Given the description of an element on the screen output the (x, y) to click on. 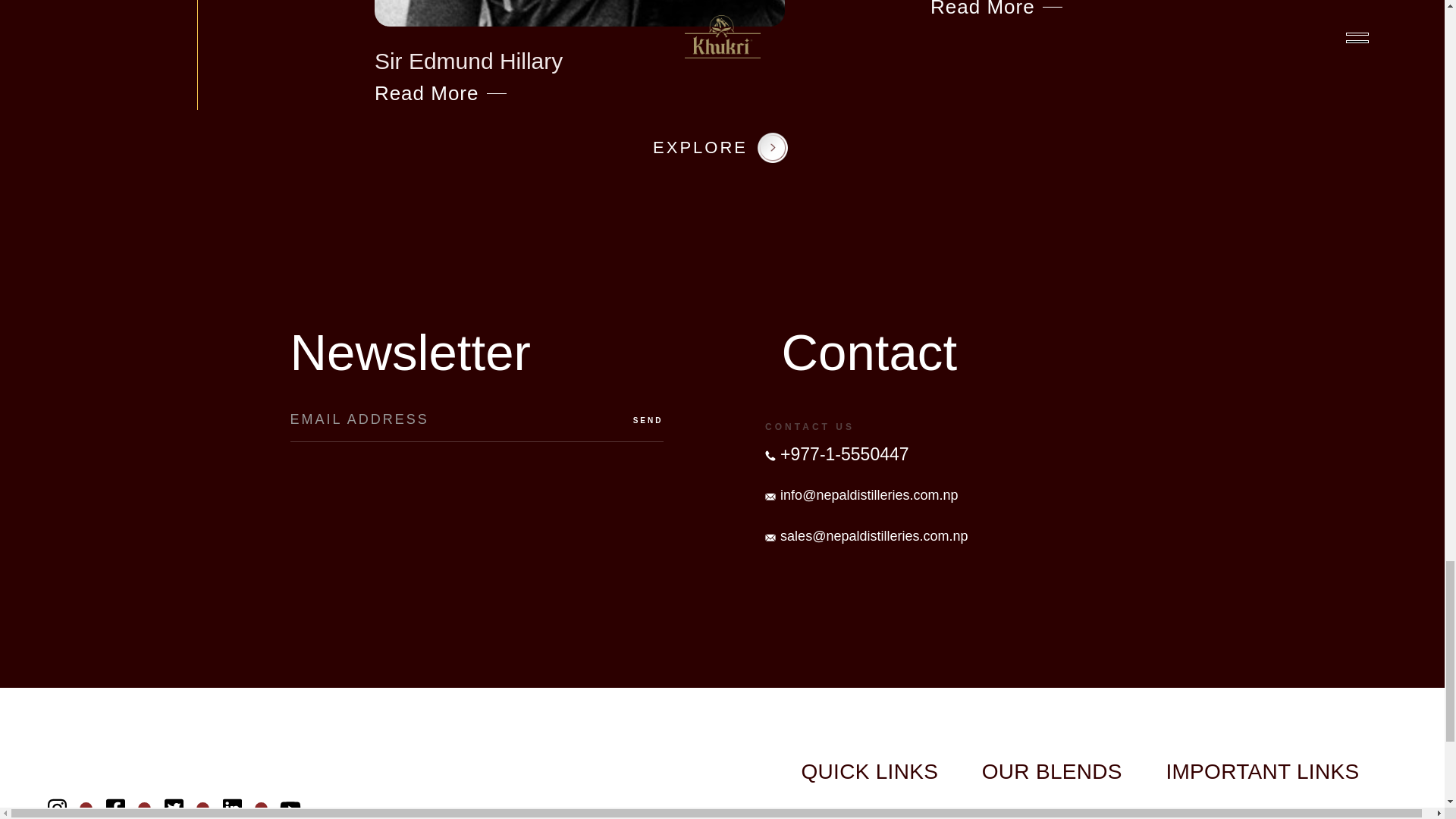
EXPLORE (1135, 11)
